Given the description of an element on the screen output the (x, y) to click on. 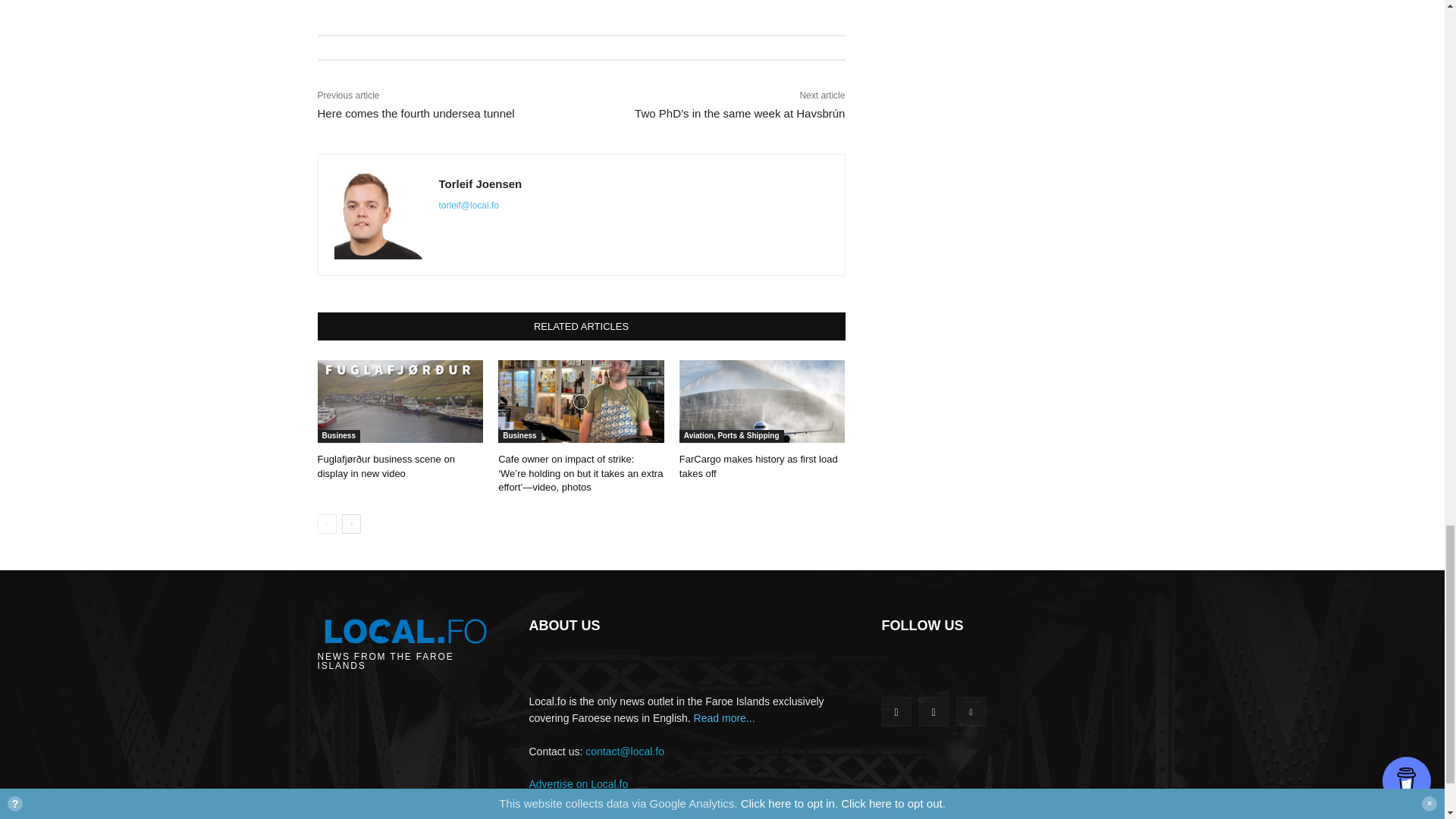
NEWS FROM THE FAROE ISLANDS (404, 640)
LOCAL.FO (404, 630)
Business (518, 436)
Advertise on Local.fo (578, 784)
Facebook (895, 711)
Torleif Joensen (479, 183)
Torleif Joensen (377, 214)
LOCAL.FO (404, 640)
Business (338, 436)
FarCargo makes history as first load takes off (758, 465)
Vimeo (970, 711)
Twitter (933, 711)
FarCargo makes history as first load takes off (762, 401)
Here comes the fourth undersea tunnel (415, 113)
FarCargo makes history as first load takes off (758, 465)
